Given the description of an element on the screen output the (x, y) to click on. 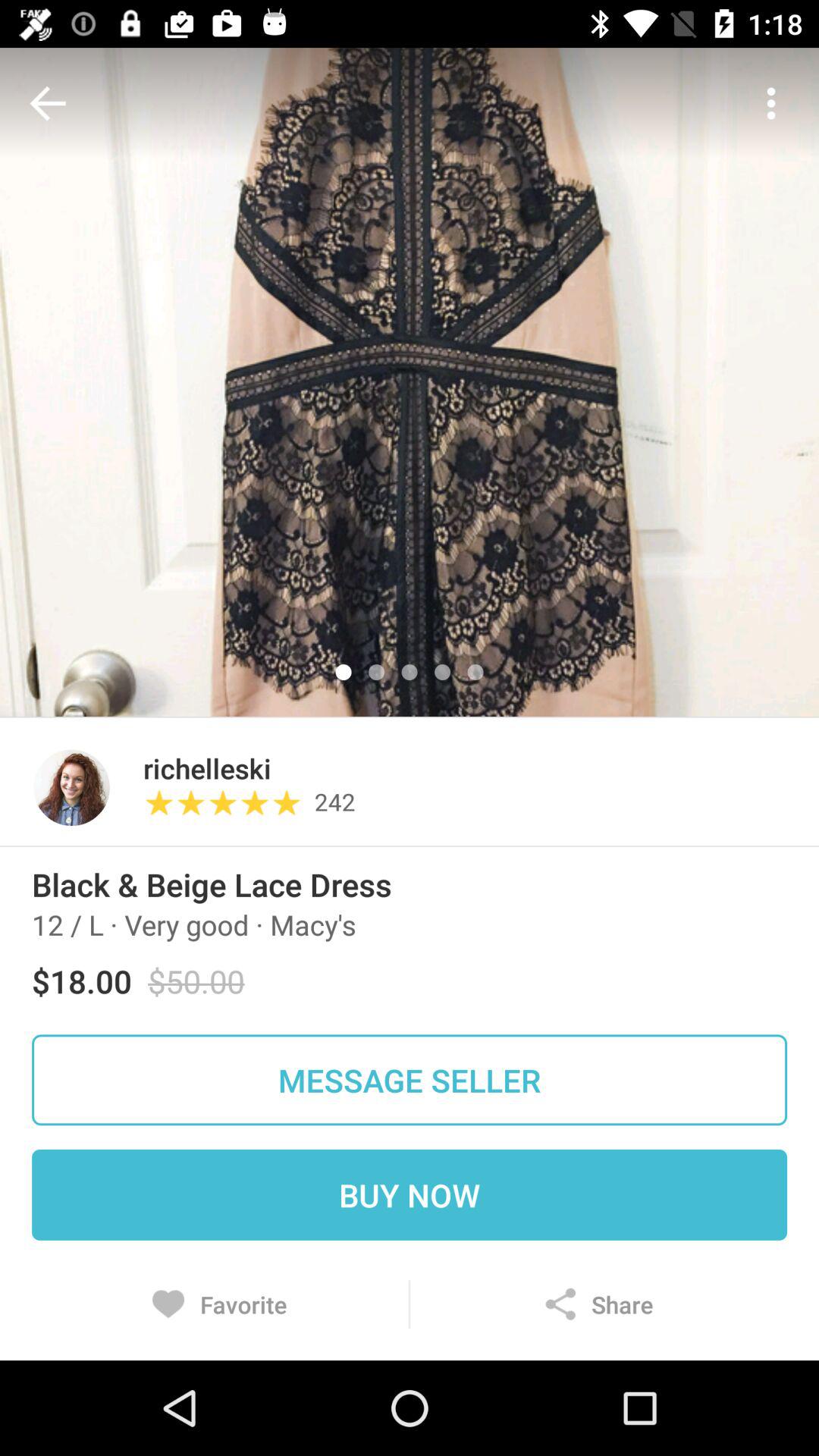
tap the icon at the bottom right corner (598, 1304)
